Given the description of an element on the screen output the (x, y) to click on. 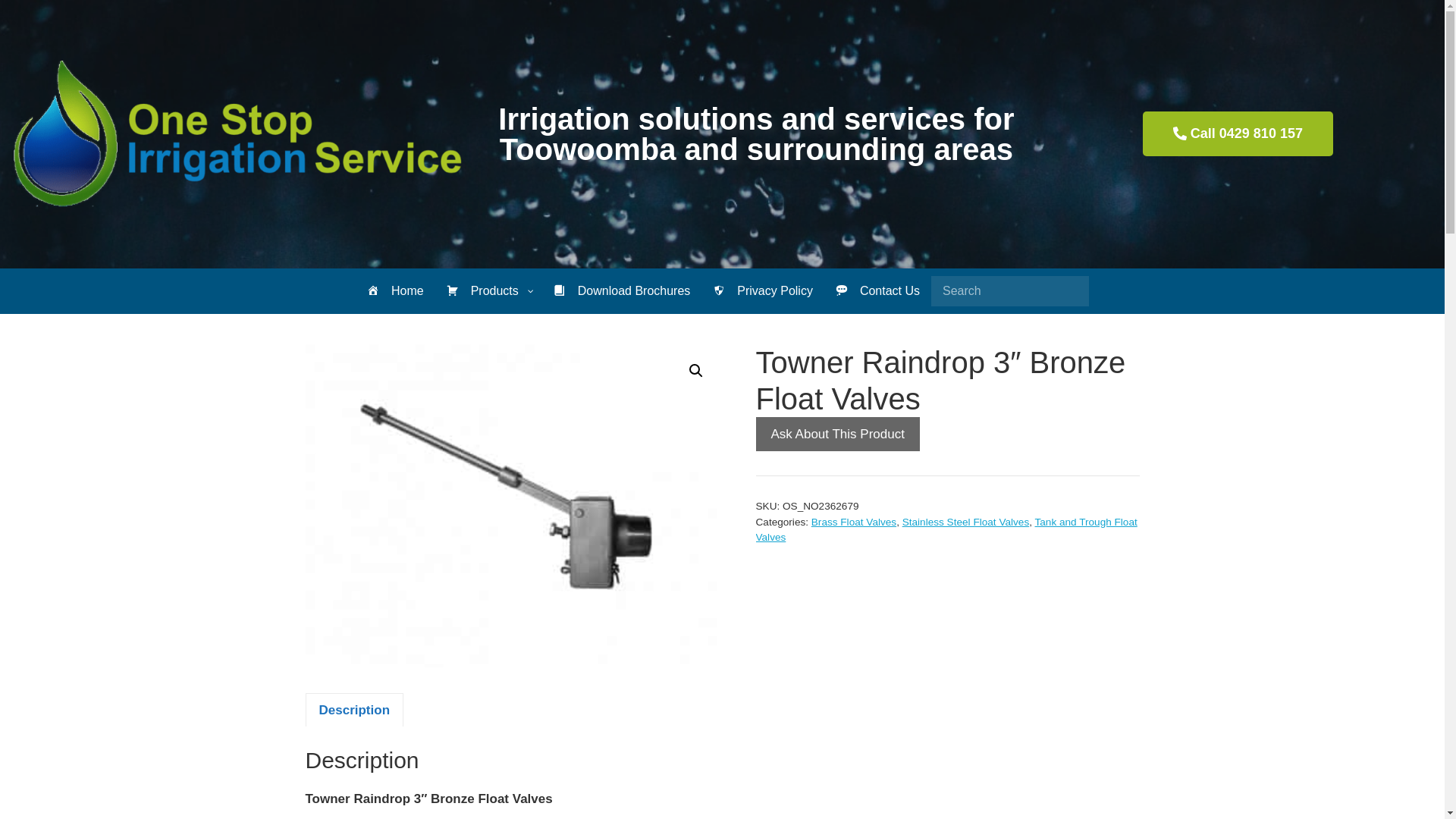
IMG_5142-365x283 towner ss Element type: hover (512, 505)
Stainless Steel Float Valves Element type: text (965, 521)
Tank and Trough Float Valves Element type: text (945, 529)
Privacy Policy Element type: text (762, 291)
Contact Us Element type: text (877, 291)
Download Brochures Element type: text (622, 291)
Ask About This Product Element type: text (837, 434)
Products Element type: text (488, 291)
Brass Float Valves Element type: text (853, 521)
Description Element type: text (353, 709)
Call 0429 810 157 Element type: text (1237, 133)
Home Element type: text (395, 291)
